Given the description of an element on the screen output the (x, y) to click on. 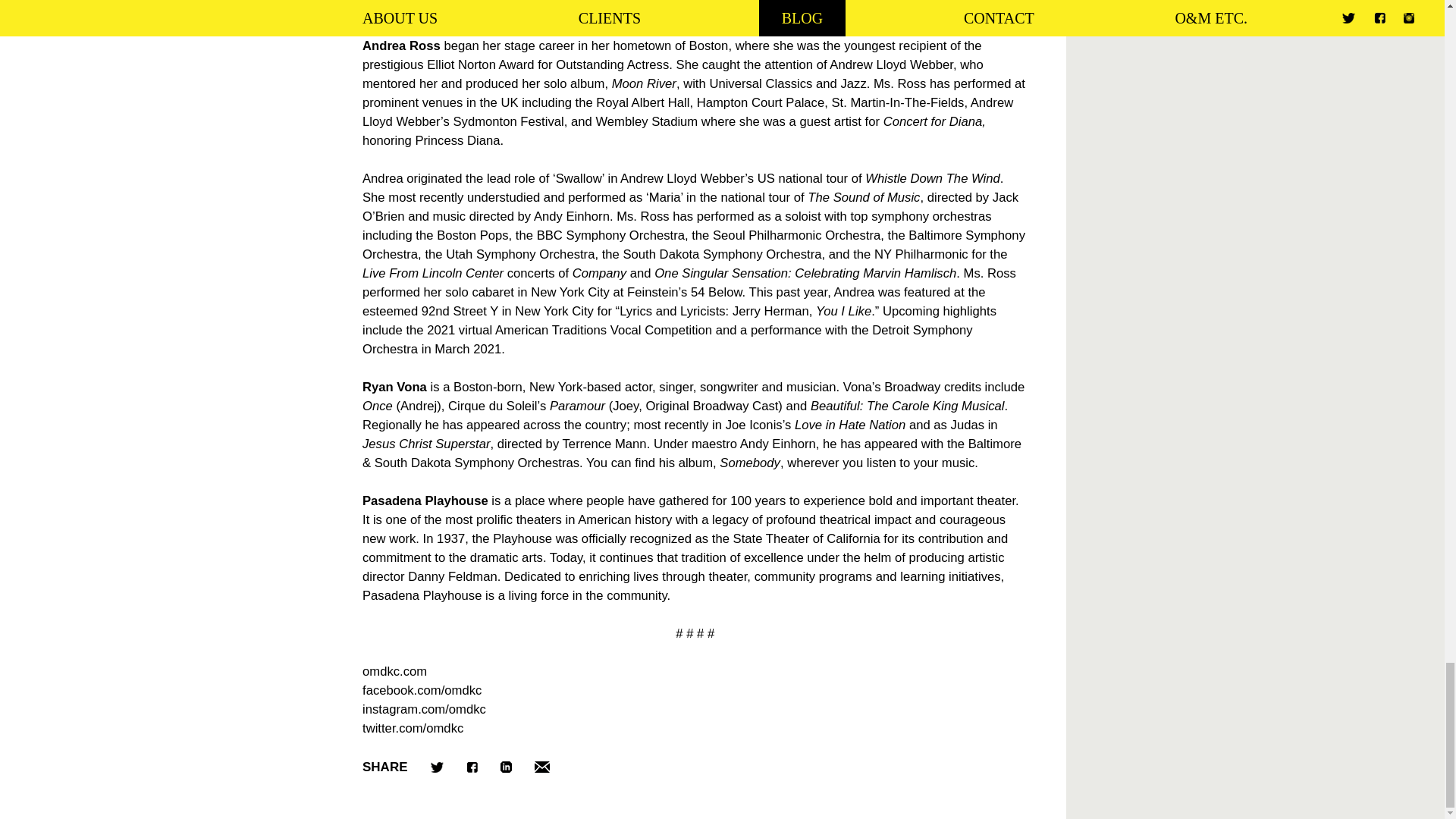
Email (542, 767)
LinkedIn (506, 767)
Facebook (471, 767)
Twitter (437, 767)
